Given the description of an element on the screen output the (x, y) to click on. 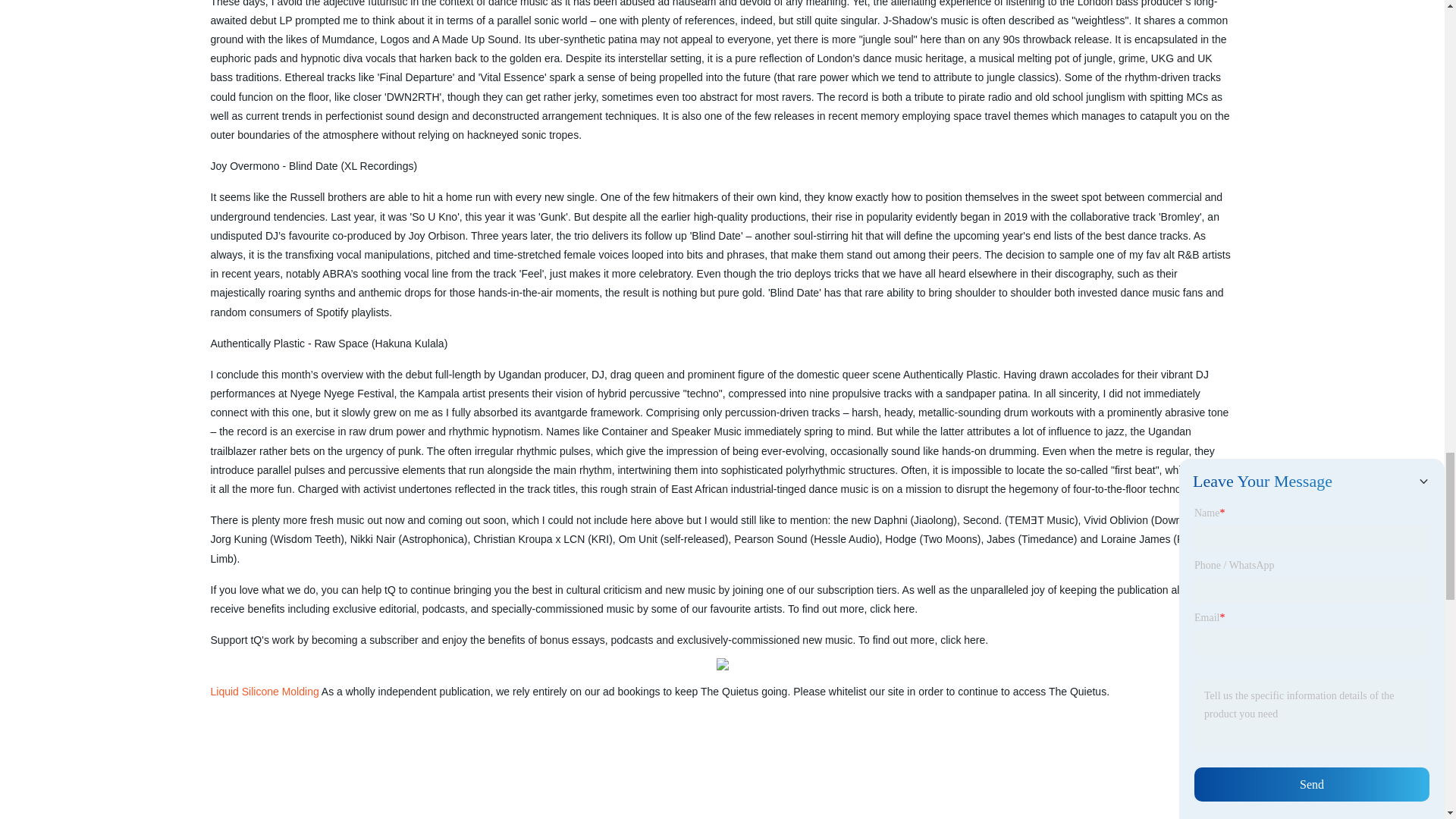
Liquid Silicone Molding (264, 691)
